Given the description of an element on the screen output the (x, y) to click on. 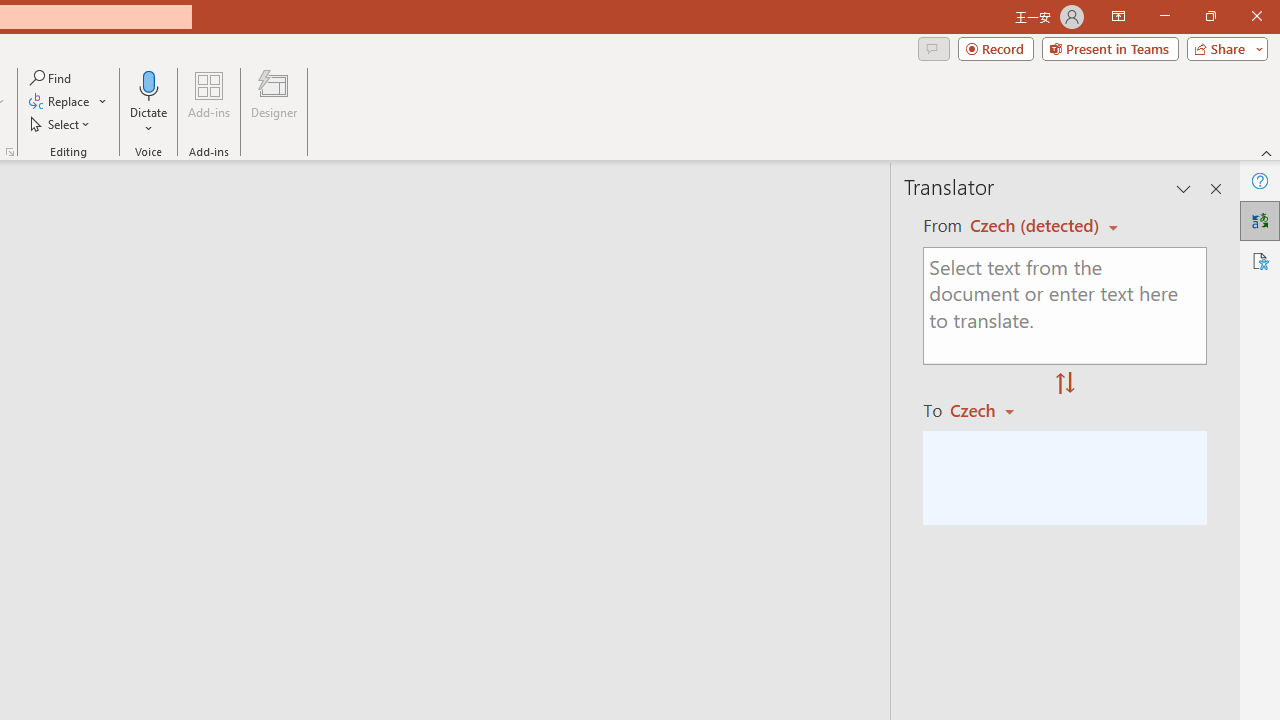
Czech (detected) (1037, 225)
Czech (991, 409)
